Given the description of an element on the screen output the (x, y) to click on. 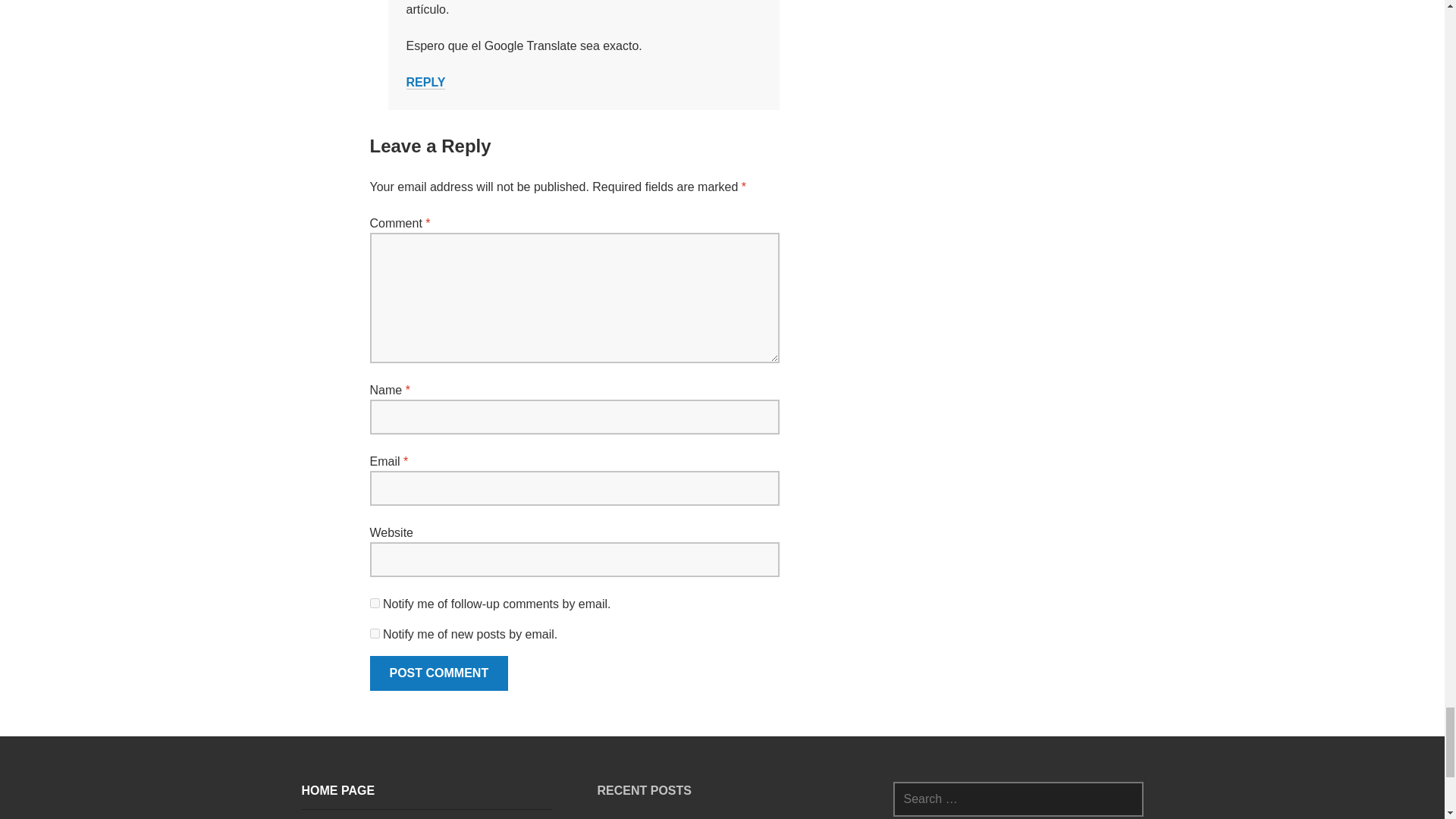
subscribe (374, 633)
Post Comment (438, 673)
subscribe (374, 603)
